Given the description of an element on the screen output the (x, y) to click on. 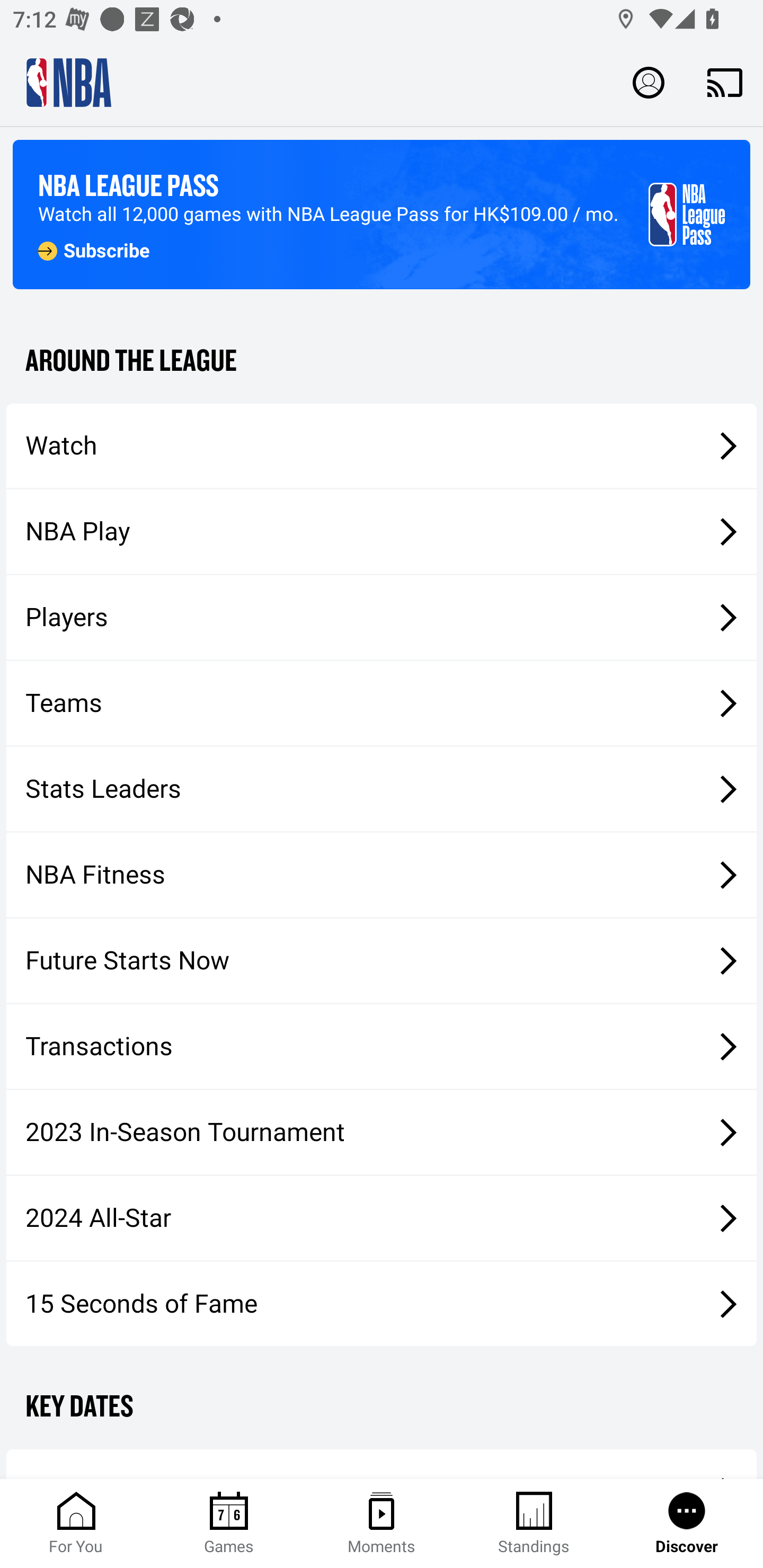
Cast. Disconnected (724, 82)
Profile (648, 81)
Watch (381, 444)
NBA Play (381, 531)
Players (381, 617)
Teams (381, 702)
Stats Leaders (381, 788)
NBA Fitness (381, 874)
Future Starts Now (381, 960)
Transactions (381, 1046)
2023 In-Season Tournament (381, 1131)
2024 All-Star (381, 1218)
15 Seconds of Fame (381, 1303)
For You (76, 1523)
Games (228, 1523)
Moments (381, 1523)
Standings (533, 1523)
